Given the description of an element on the screen output the (x, y) to click on. 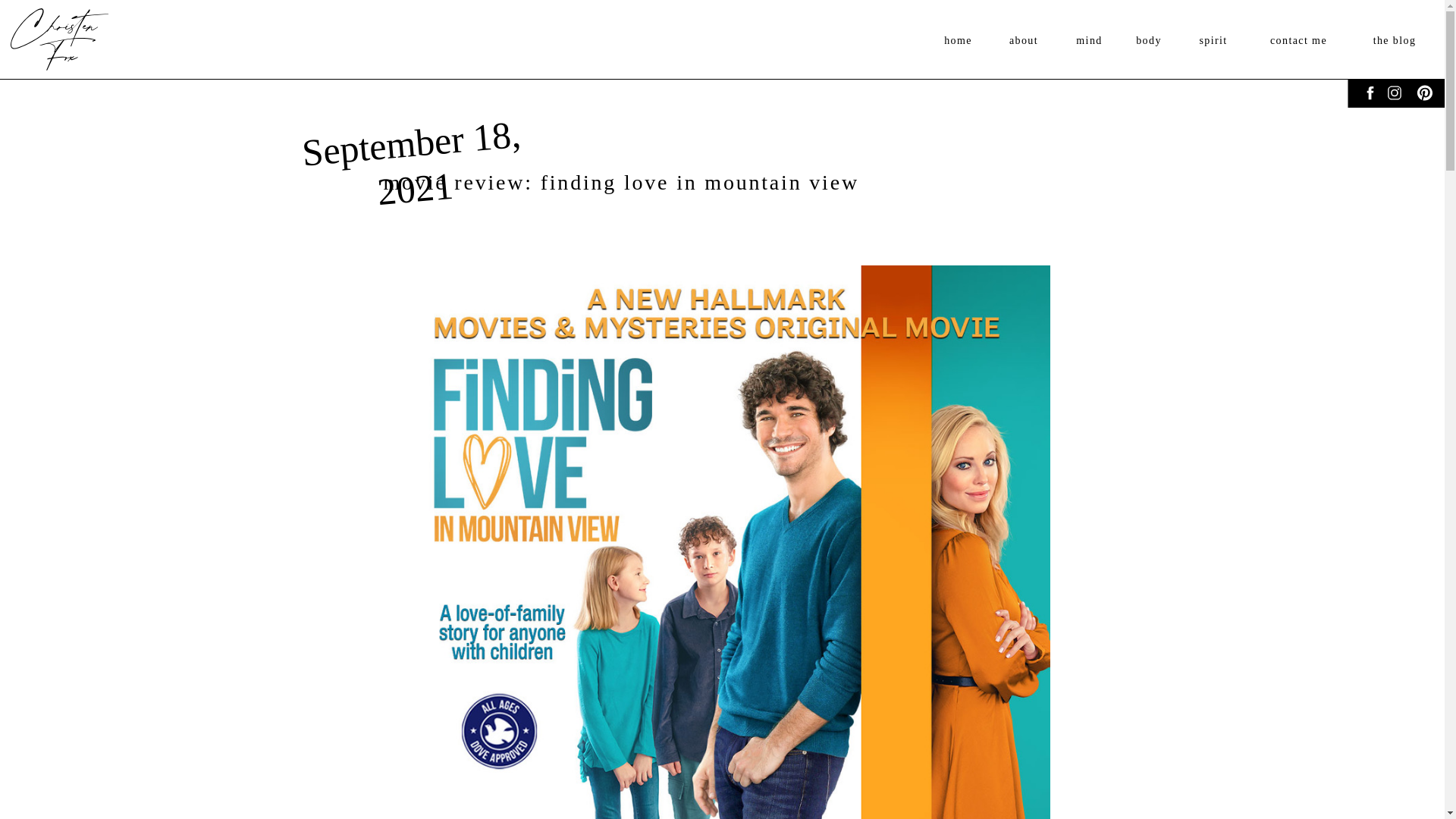
the blog (1393, 43)
home (958, 43)
mind (1088, 43)
spirit (1212, 43)
about (1023, 43)
contact me (1298, 43)
body (1148, 43)
